Given the description of an element on the screen output the (x, y) to click on. 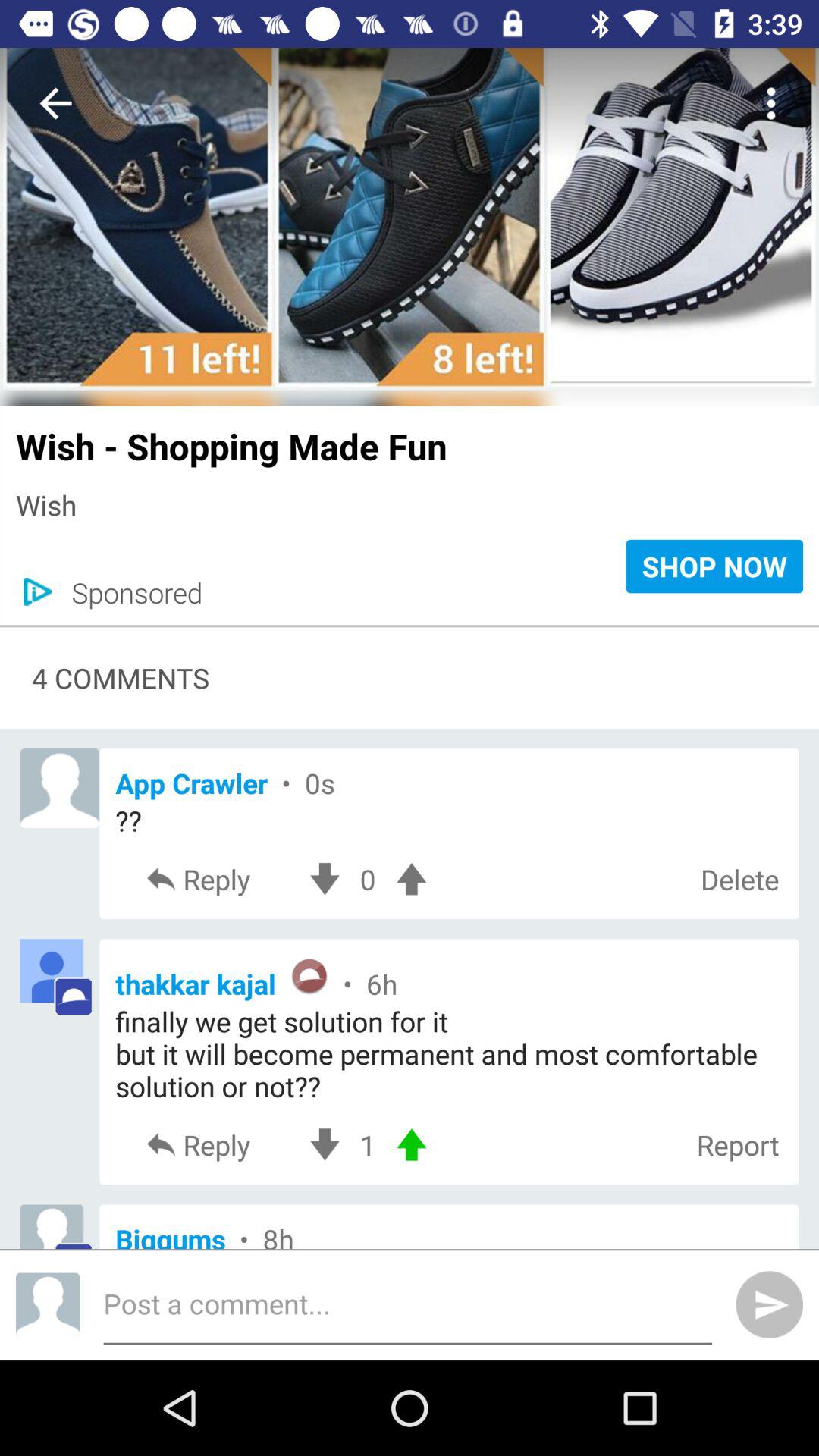
tap the item below ?? icon (739, 879)
